Given the description of an element on the screen output the (x, y) to click on. 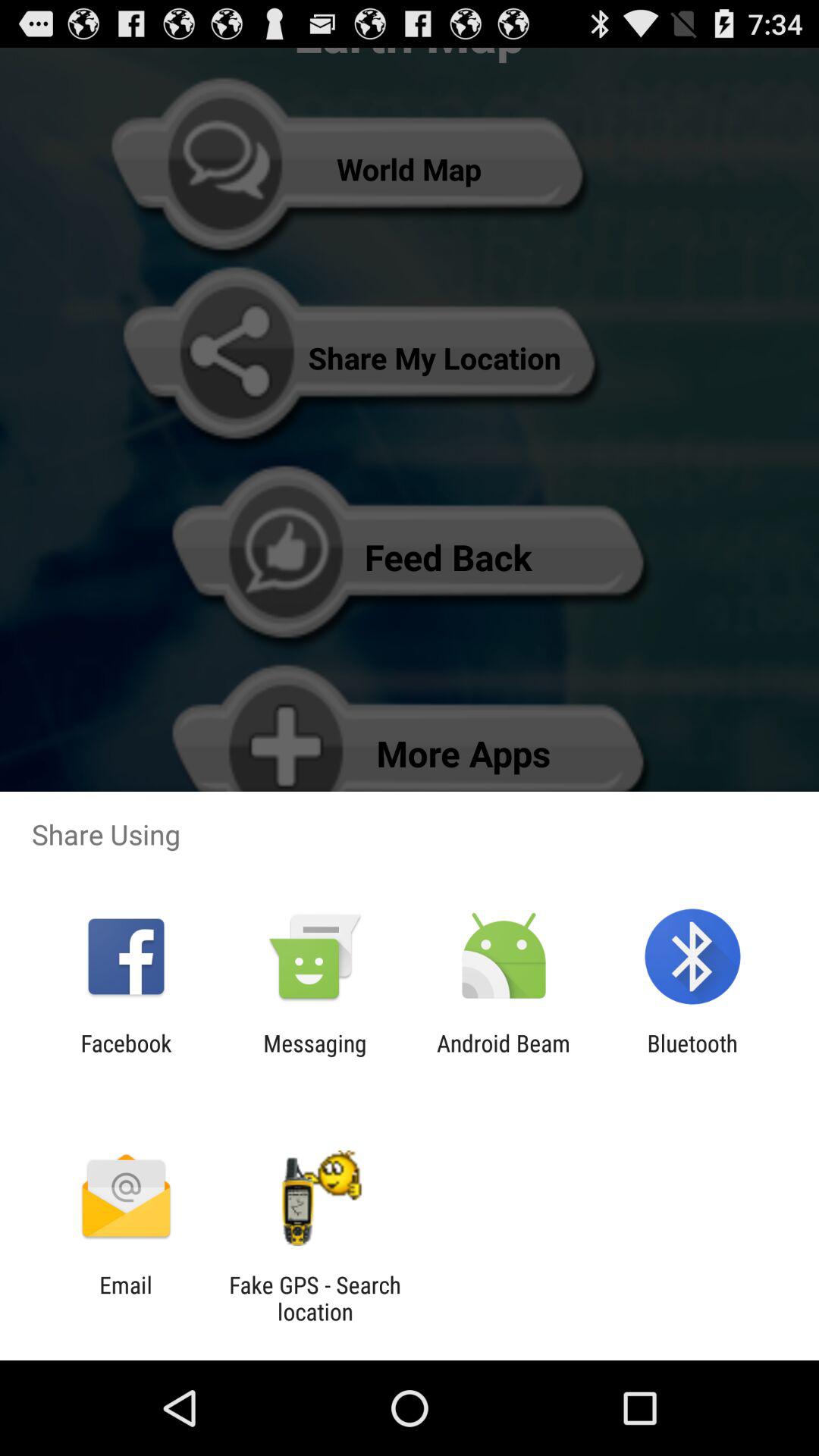
click bluetooth icon (692, 1056)
